Given the description of an element on the screen output the (x, y) to click on. 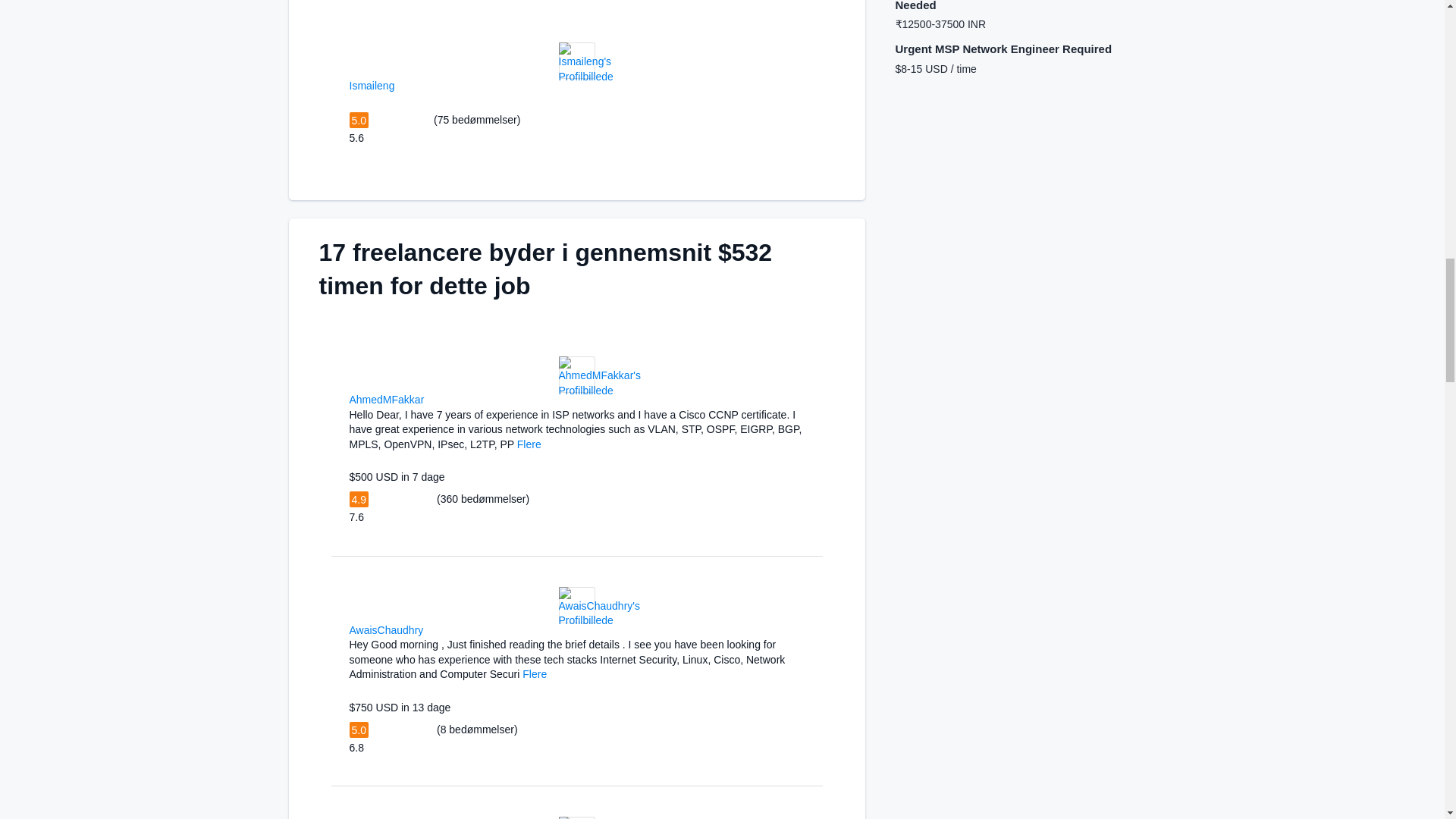
Se AhmedMFakkar's Profil (598, 390)
AwaisChaudhry (386, 630)
Flere (528, 444)
Egypt (433, 398)
Pakistan (432, 628)
Ismaileng (371, 85)
Flere (534, 674)
Se Ismaileng's Profil (584, 76)
Se AwaisChaudhry's Profil (598, 620)
Morocco (403, 84)
AhmedMFakkar (386, 399)
